Given the description of an element on the screen output the (x, y) to click on. 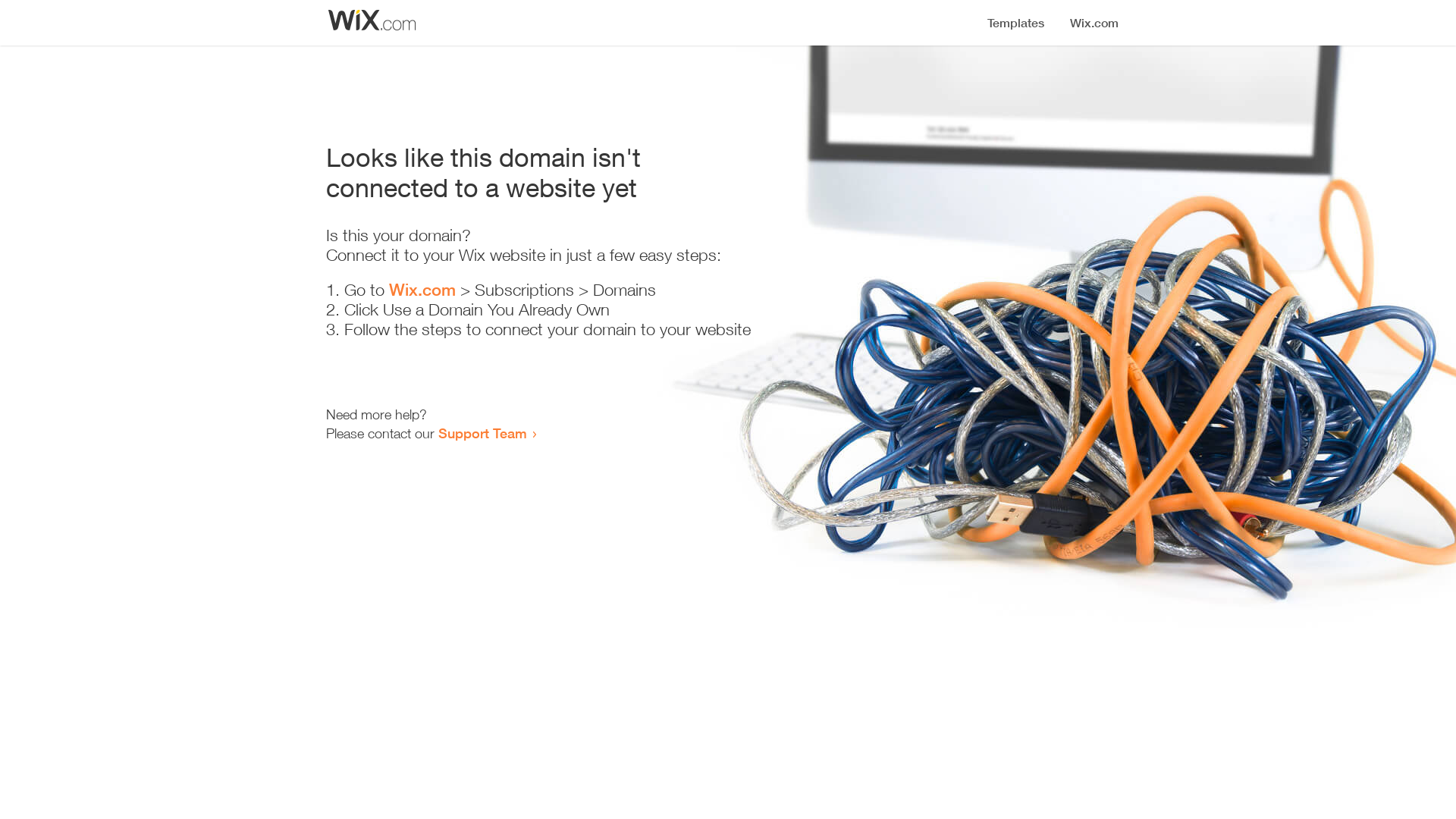
Wix.com Element type: text (422, 289)
Support Team Element type: text (482, 432)
